Given the description of an element on the screen output the (x, y) to click on. 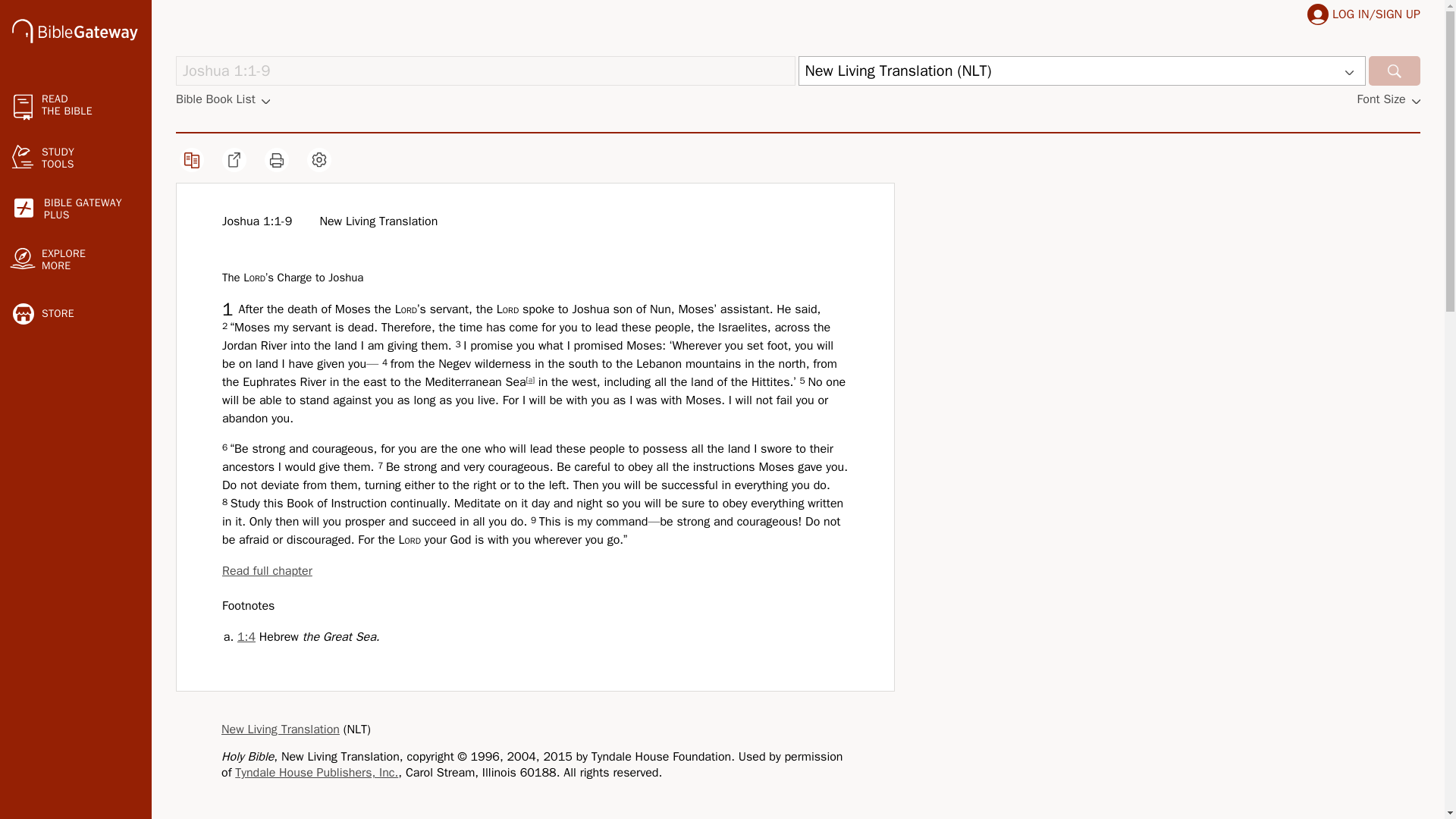
New Living Translation (280, 729)
Joshua 1:1-9 (485, 70)
View Full Chapter (267, 570)
Read full chapter (267, 570)
Bible Gateway logo (75, 209)
Bible Book List (74, 32)
account (222, 99)
Bible Gateway logo (1317, 14)
Go to Joshua 1:4 (74, 30)
Joshua 1:1-9 (246, 636)
Tyndale House Publishers, Inc. (485, 70)
1:4 (315, 772)
Search (246, 636)
